Given the description of an element on the screen output the (x, y) to click on. 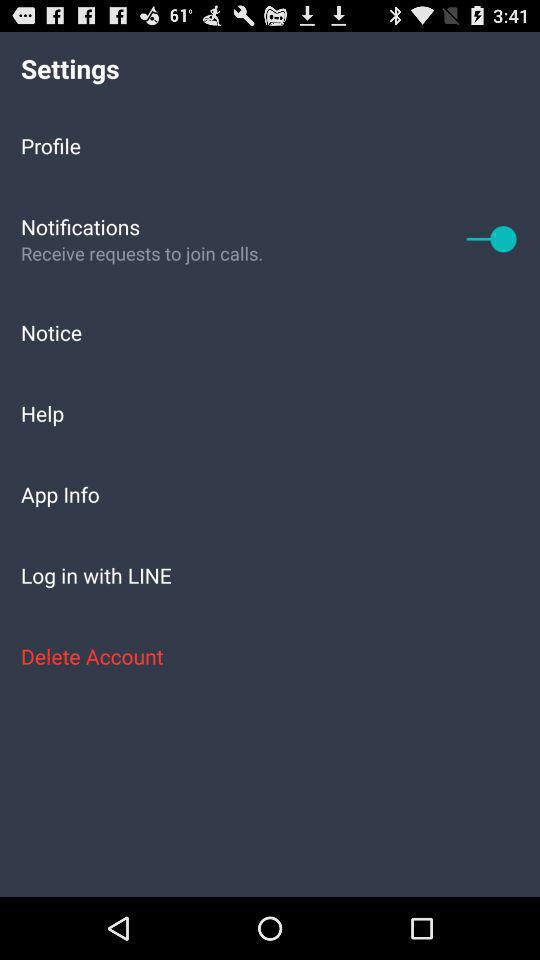
open delete account icon (270, 655)
